Given the description of an element on the screen output the (x, y) to click on. 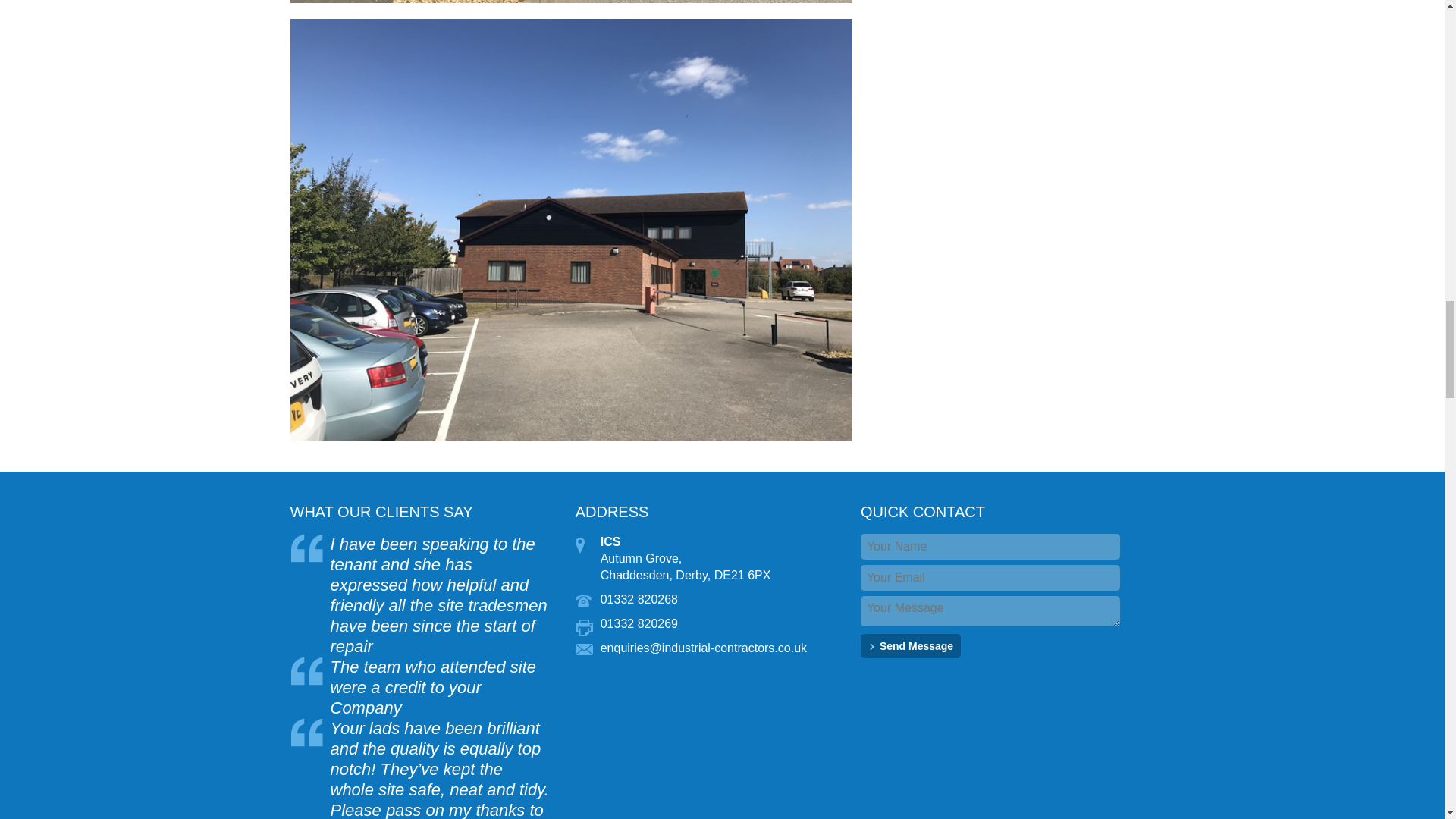
Send Message (910, 645)
